Given the description of an element on the screen output the (x, y) to click on. 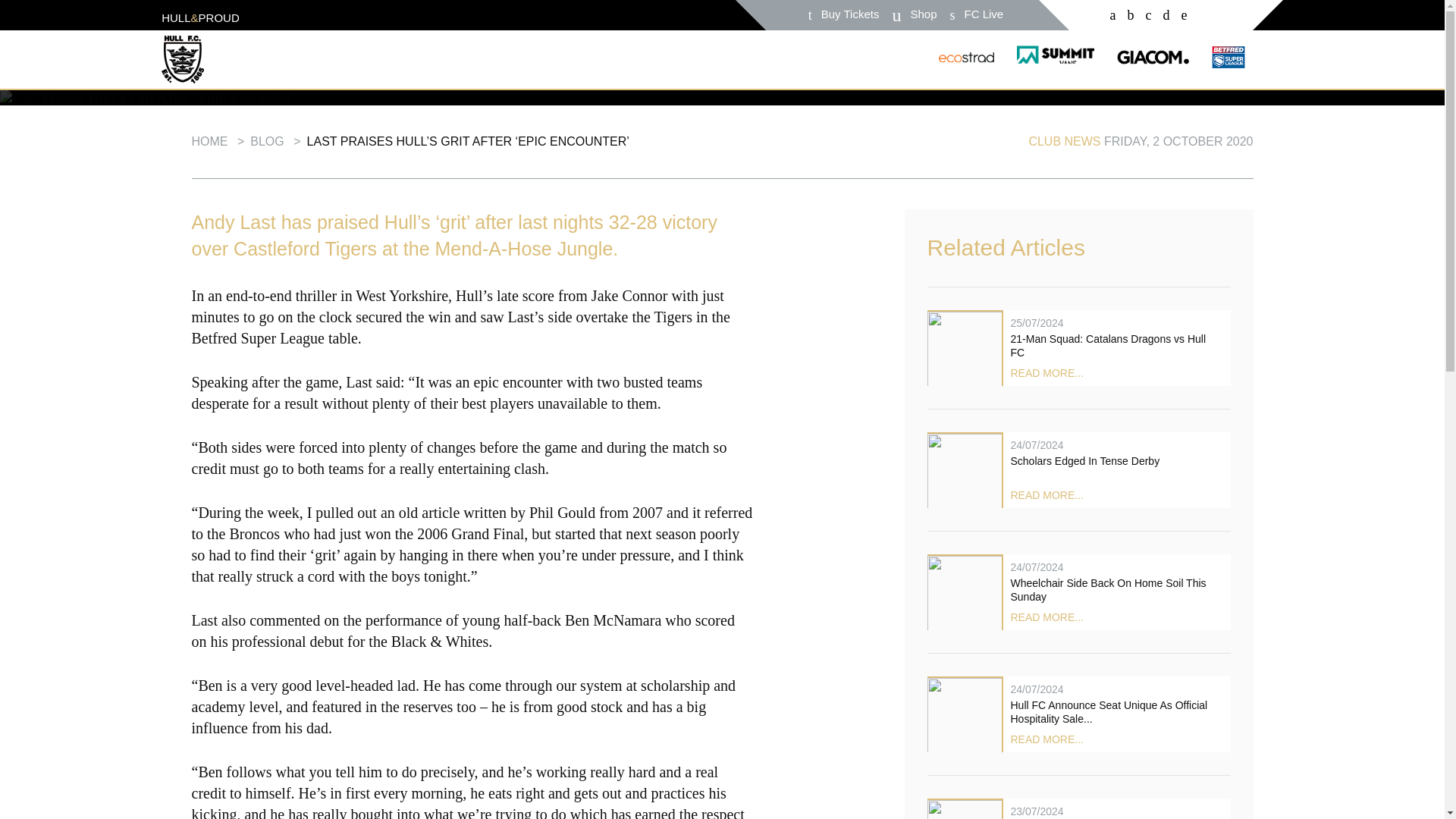
FC Live (984, 12)
Ecostrad (966, 62)
Shop (923, 12)
Giacom (1153, 57)
Buy Tickets (850, 12)
HOME (98, 30)
NEWS (174, 30)
Wheelchair Side Back On Home Soil This Sunday (1078, 591)
Summit Vans (1055, 62)
Scholars Edged In Tense Derby (1078, 469)
TEAMS (253, 30)
21-Man Squad: Catalans Dragons vs Hull FC (1078, 347)
